Given the description of an element on the screen output the (x, y) to click on. 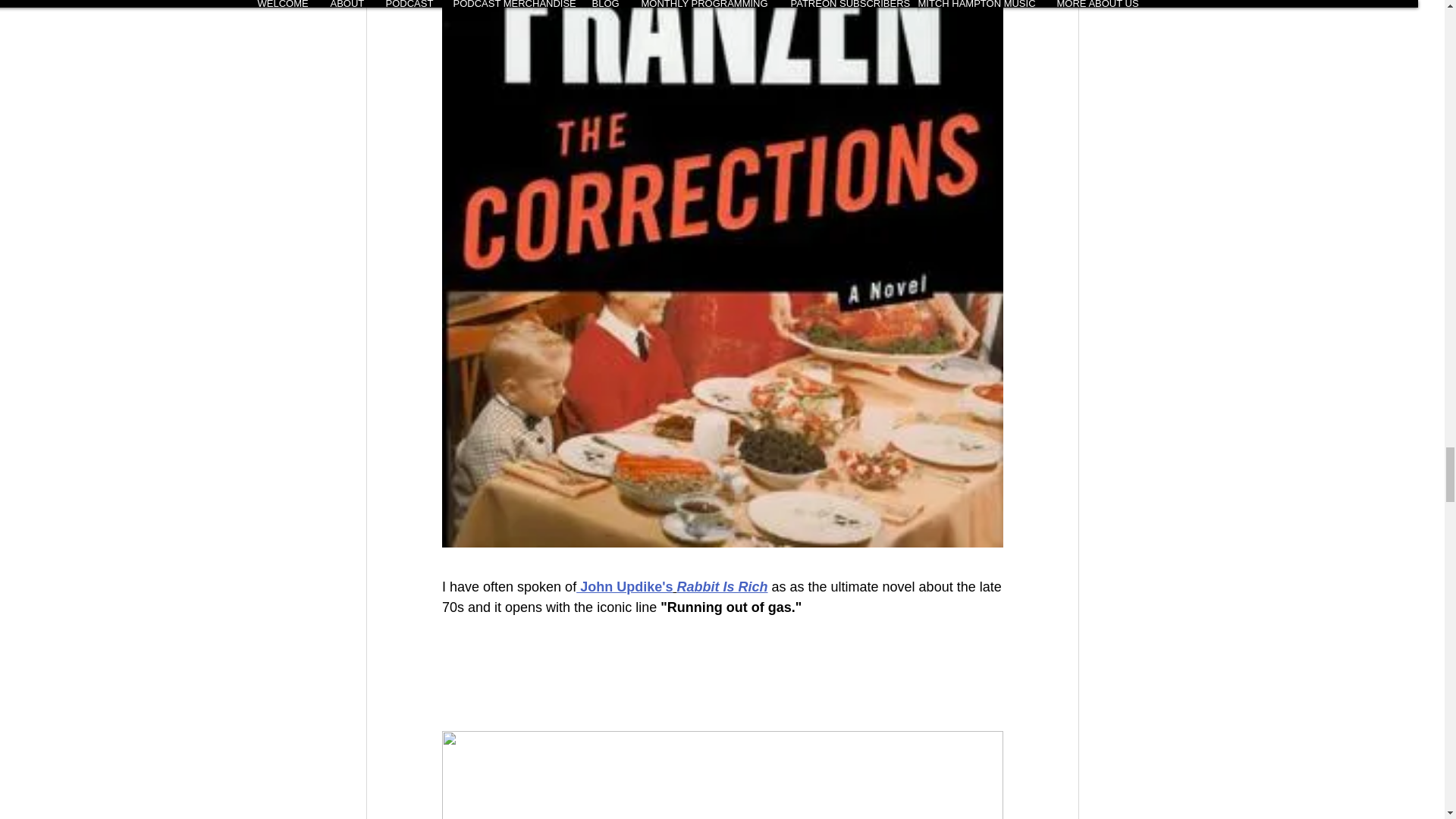
 John Updike's (624, 586)
Rabbit Is Rich (722, 586)
